Given the description of an element on the screen output the (x, y) to click on. 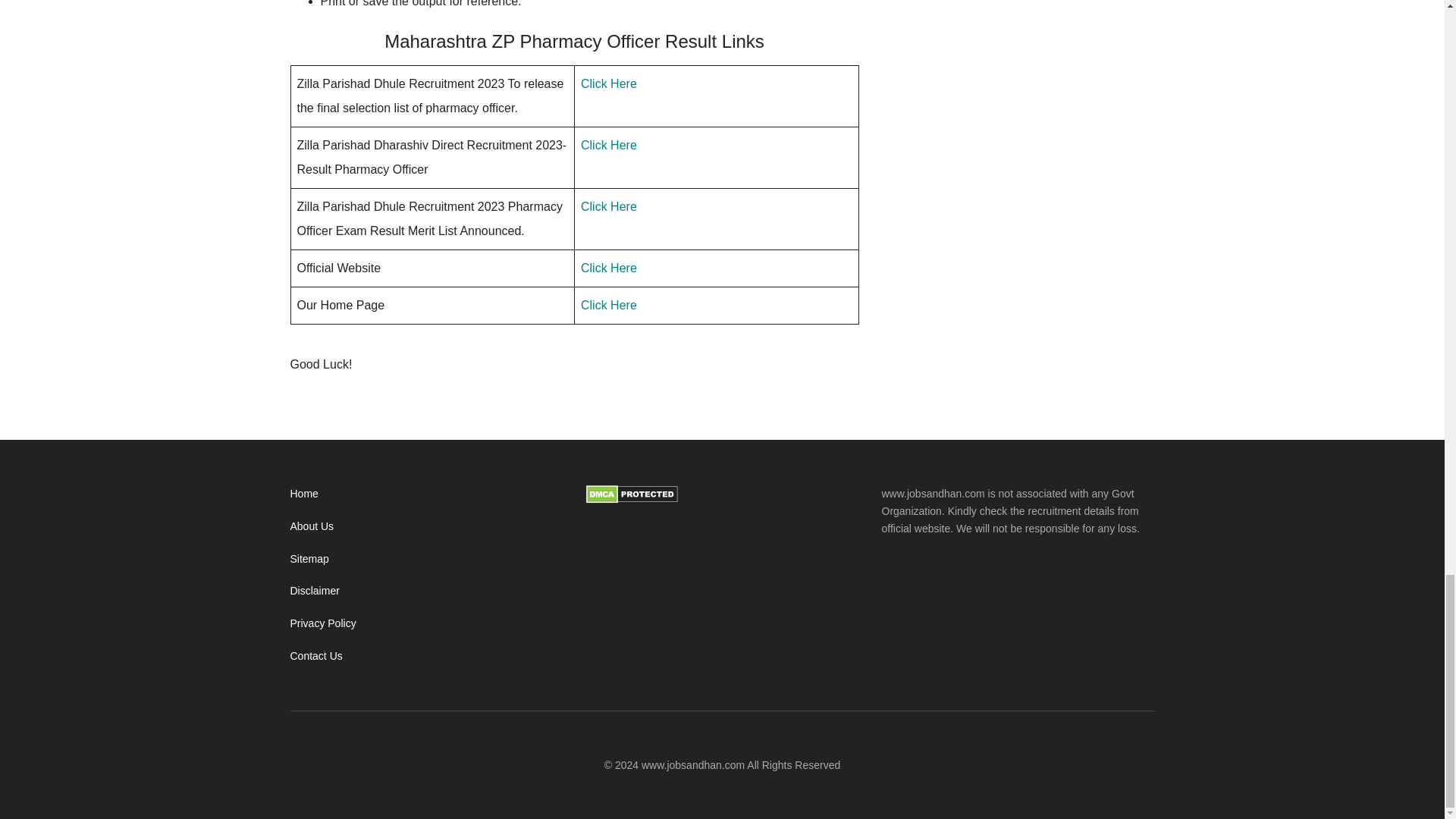
Click Here (608, 144)
About Us (311, 526)
Click Here (608, 267)
Sitemap (309, 558)
Contact Us (315, 655)
Disclaimer (314, 590)
DMCA.com Protection Status (631, 499)
Click Here (608, 305)
Click Here (608, 205)
Home (303, 493)
